Given the description of an element on the screen output the (x, y) to click on. 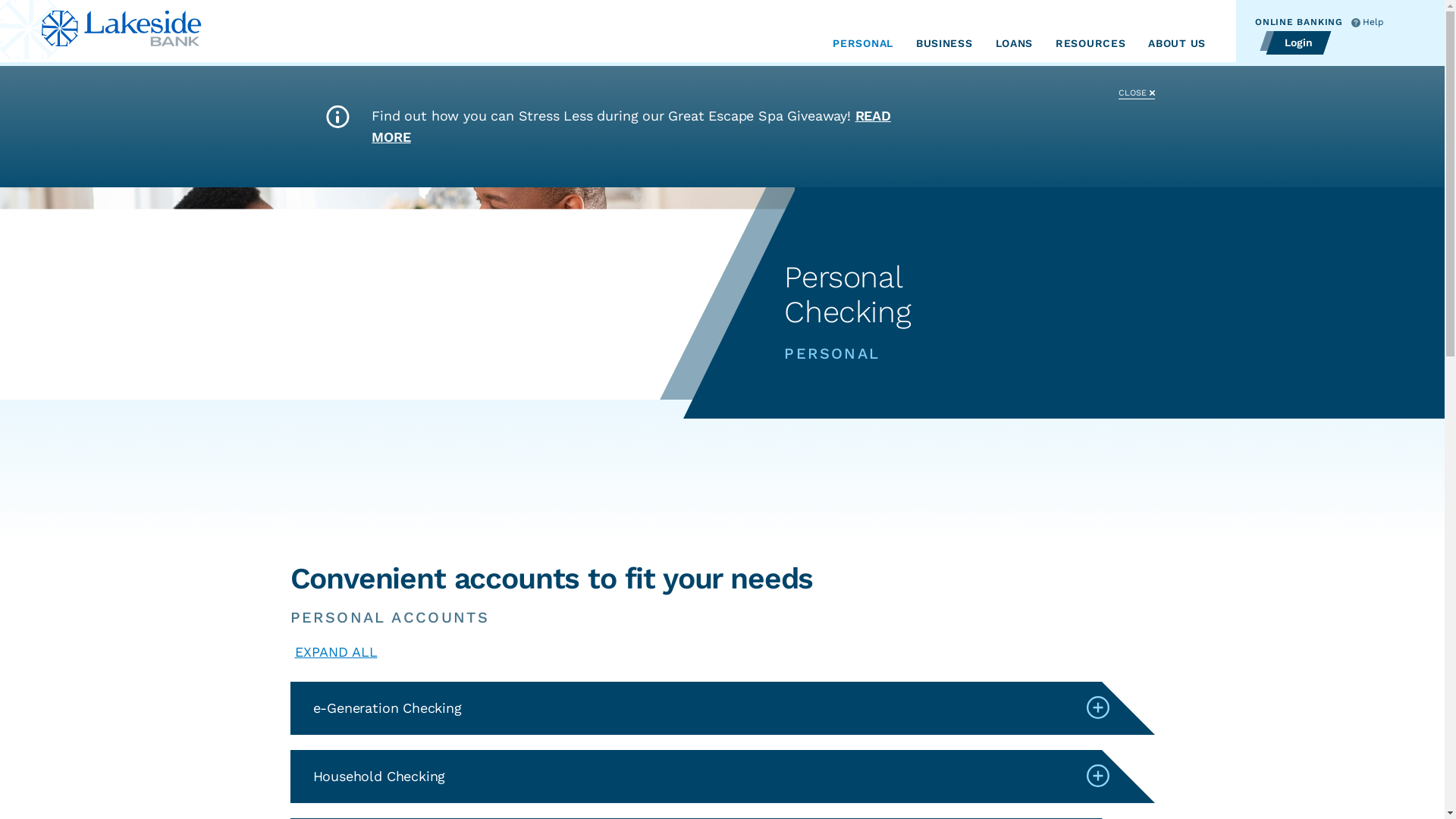
Login Element type: text (1294, 42)
EXPAND ALL Element type: text (335, 653)
PERSONAL Element type: text (862, 43)
ABOUT US Element type: text (1176, 43)
LOANS Element type: text (1014, 43)
e-Generation Checking Element type: text (721, 707)
Help Element type: text (1367, 22)
BUSINESS Element type: text (944, 43)
READ MORE Element type: text (631, 125)
Lakeside Bank logo Element type: text (106, 31)
RESOURCES Element type: text (1090, 43)
CLOSE Element type: text (1135, 88)
Household Checking Element type: text (721, 776)
